Given the description of an element on the screen output the (x, y) to click on. 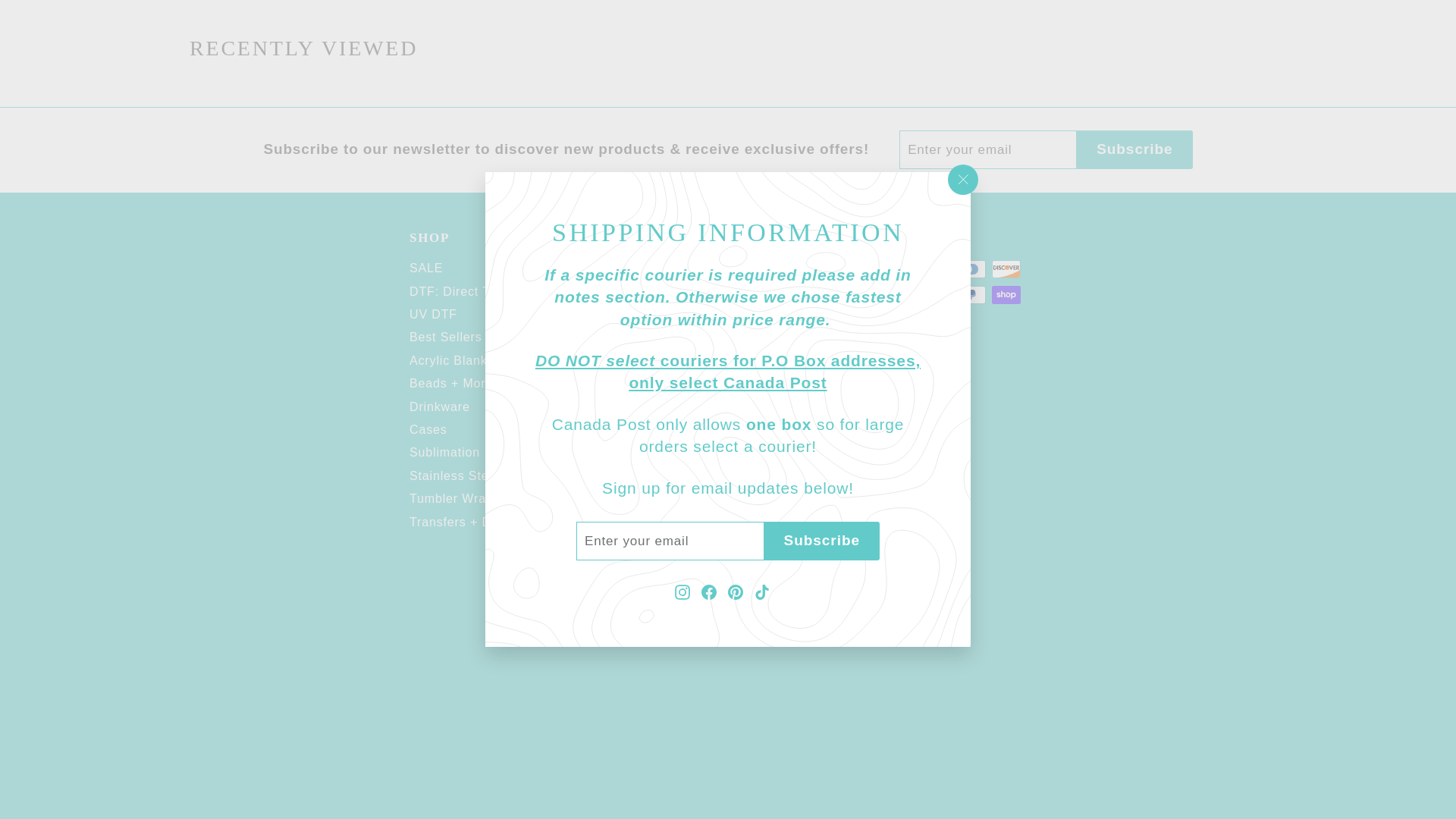
instagram (736, 334)
American Express (900, 269)
